Given the description of an element on the screen output the (x, y) to click on. 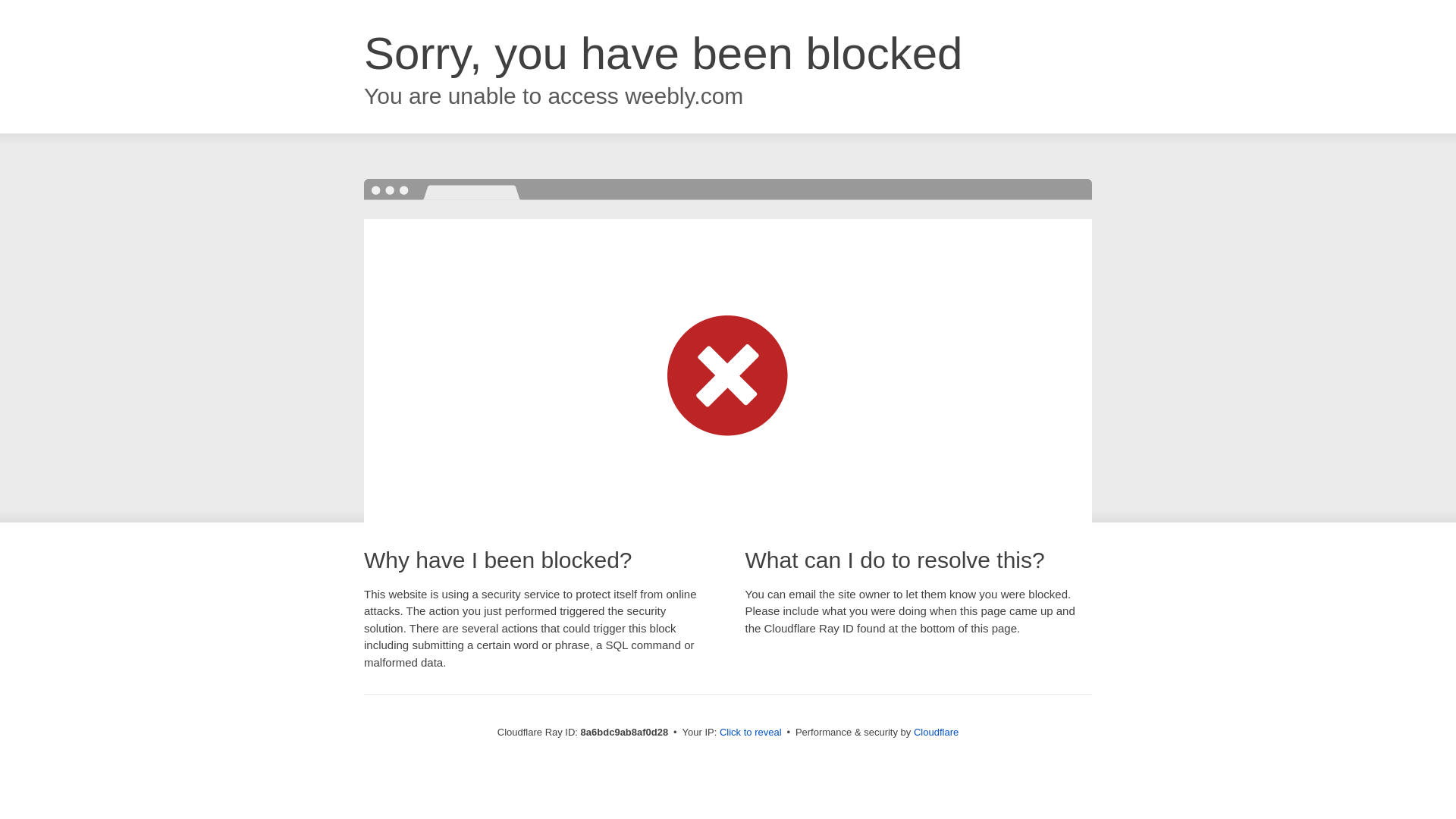
Click to reveal (750, 732)
Cloudflare (936, 731)
